Given the description of an element on the screen output the (x, y) to click on. 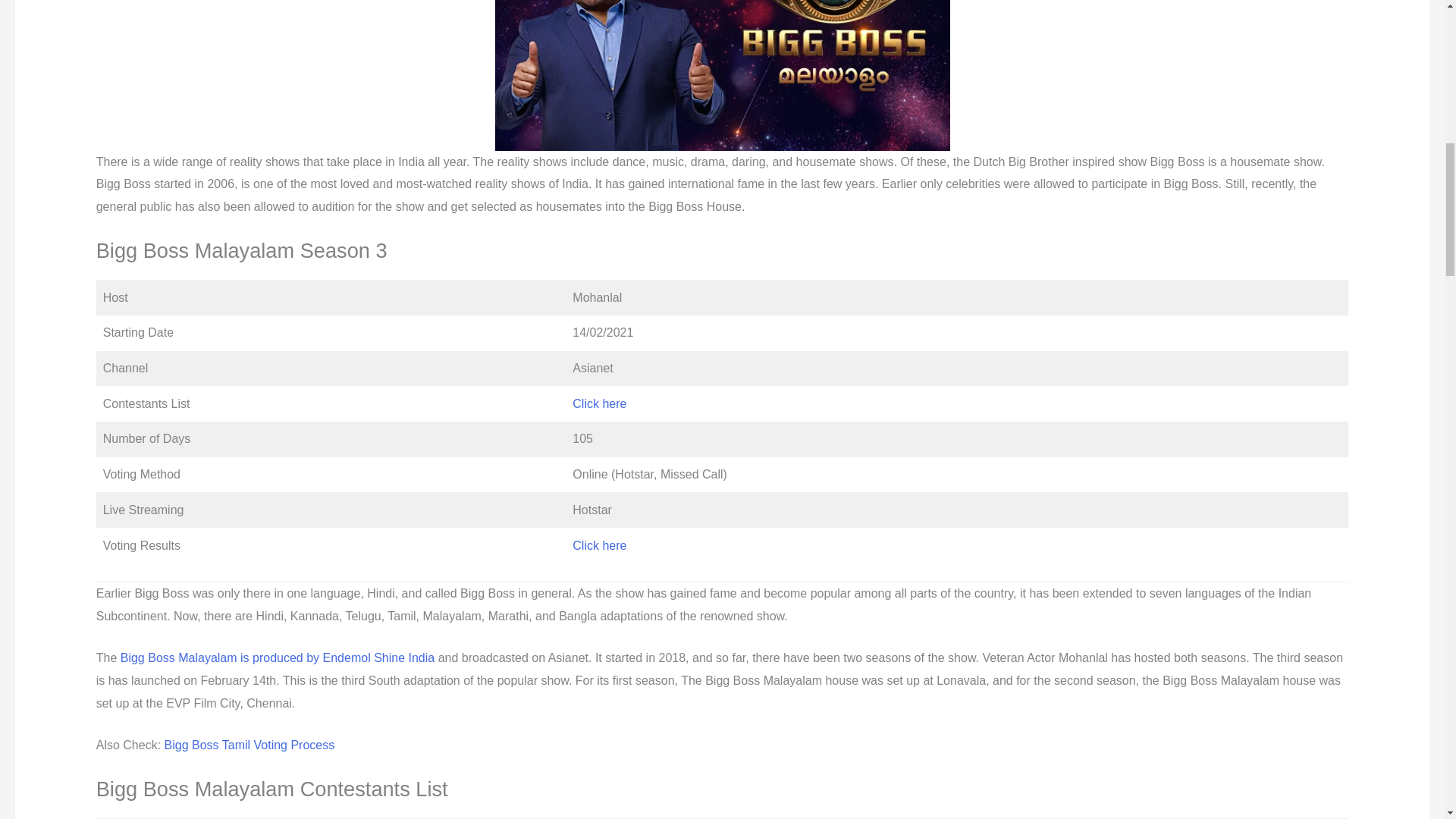
Bigg Boss Malayalam is produced by Endemol Shine India (276, 657)
Click here (599, 403)
Click here (599, 545)
Bigg Boss Tamil Voting Process (249, 744)
